Given the description of an element on the screen output the (x, y) to click on. 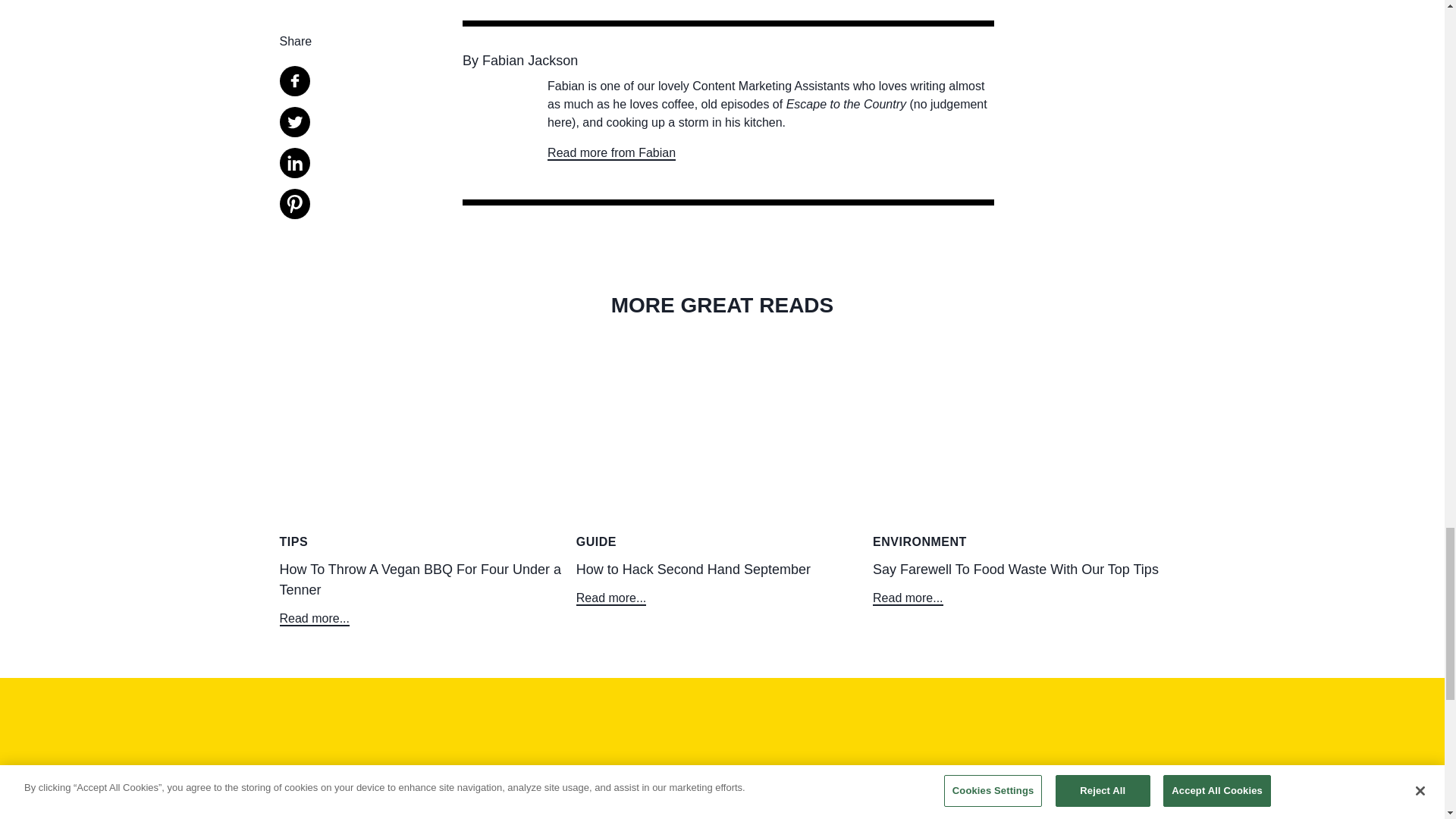
TIPS (424, 541)
How To Throw A Vegan BBQ For Four Under a Tenner (424, 591)
Say Farewell To Food Waste With Our Top Tips  (1018, 581)
Read more from Fabian (611, 153)
Read more... (907, 597)
How to Hack Second Hand September (721, 581)
ENVIRONMENT (1018, 541)
Read more... (314, 617)
Read more... (611, 597)
GUIDE (721, 541)
